Given the description of an element on the screen output the (x, y) to click on. 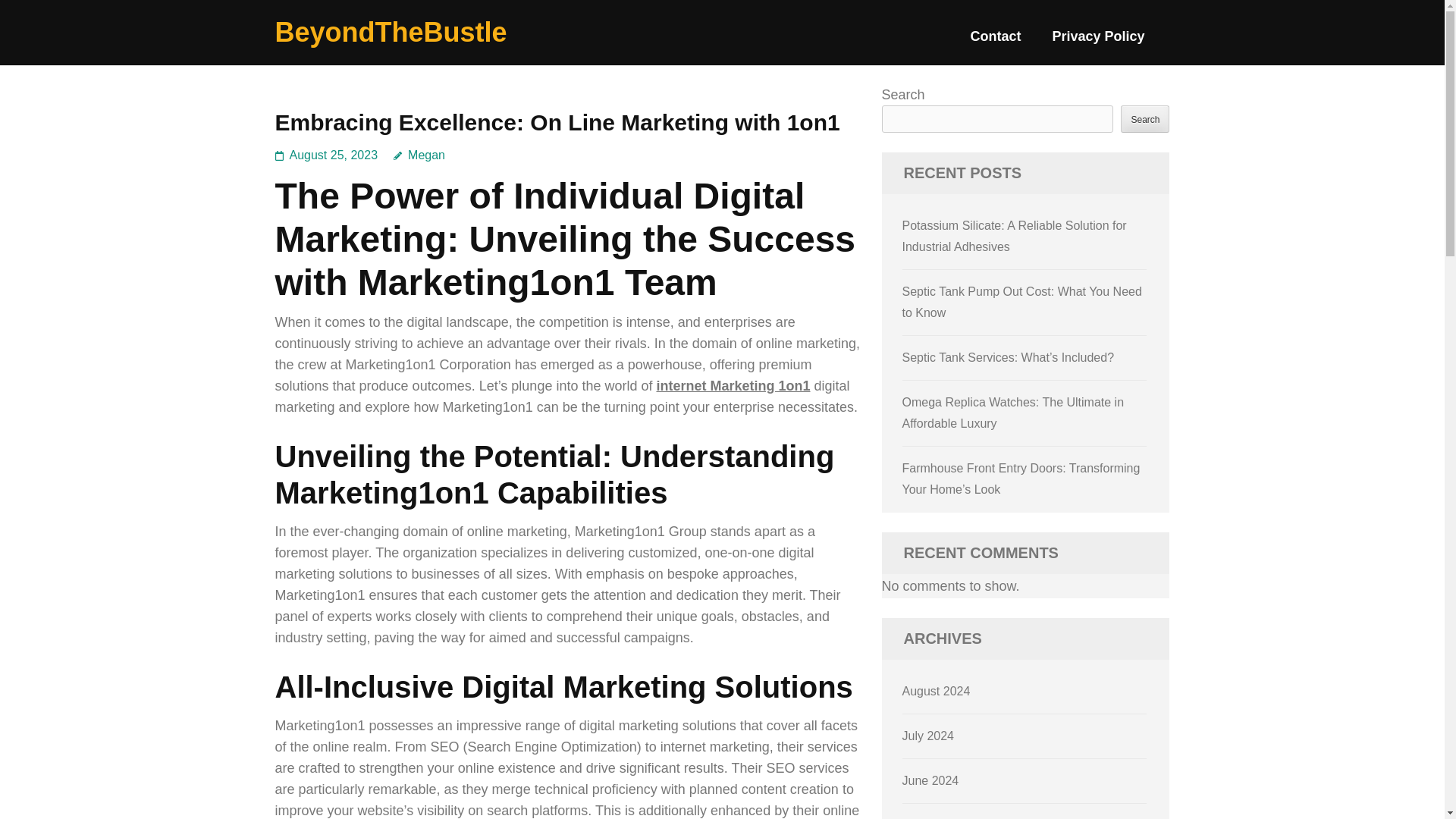
Contact (994, 42)
Search (1145, 118)
Septic Tank Pump Out Cost: What You Need to Know (1021, 302)
Omega Replica Watches: The Ultimate in Affordable Luxury (1013, 412)
internet Marketing 1on1 (732, 385)
August 25, 2023 (333, 154)
BeyondTheBustle (390, 31)
Megan (419, 154)
July 2024 (928, 735)
June 2024 (930, 780)
